Given the description of an element on the screen output the (x, y) to click on. 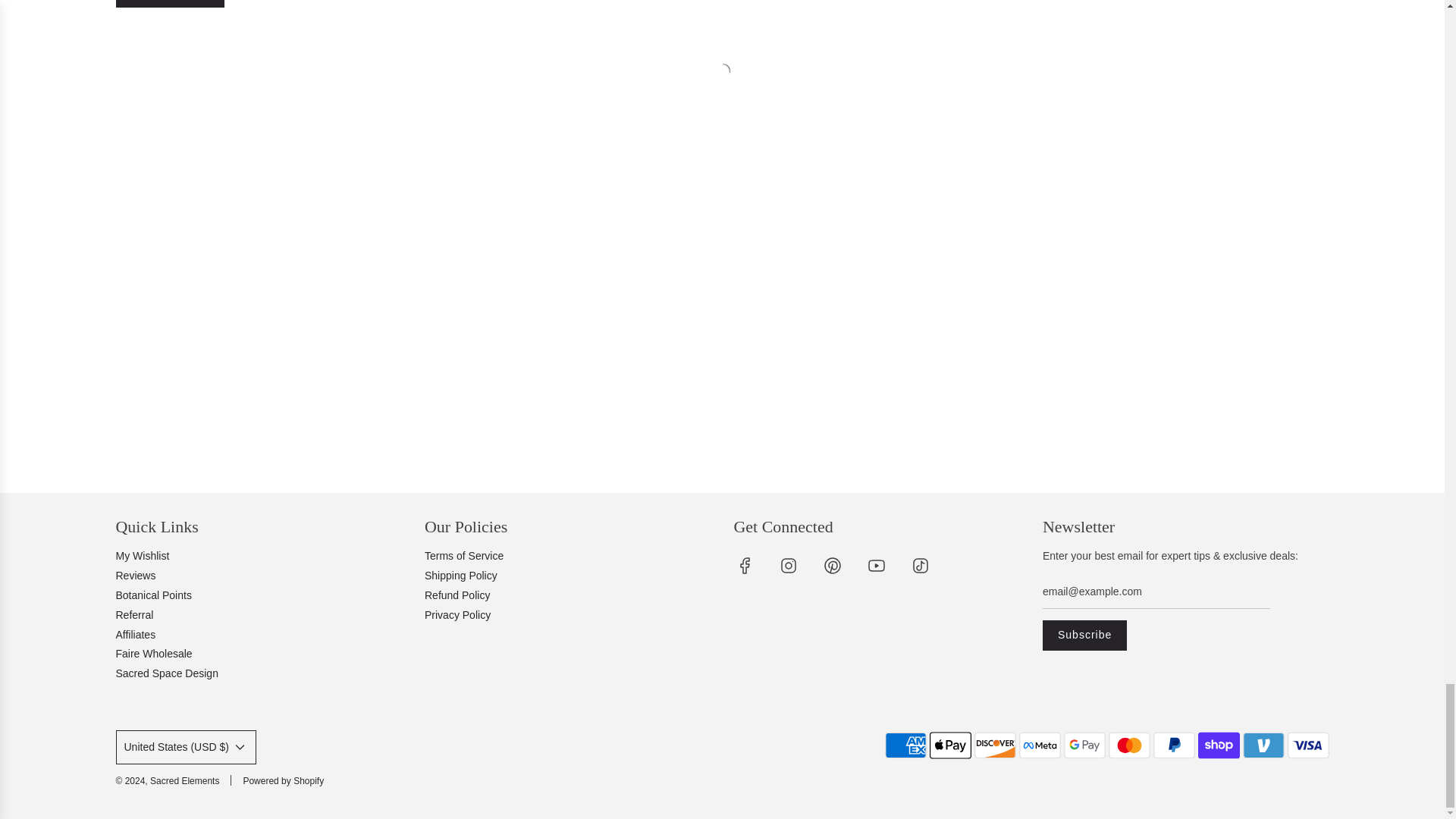
Subscribe (1084, 634)
Post comment (169, 3)
